Given the description of an element on the screen output the (x, y) to click on. 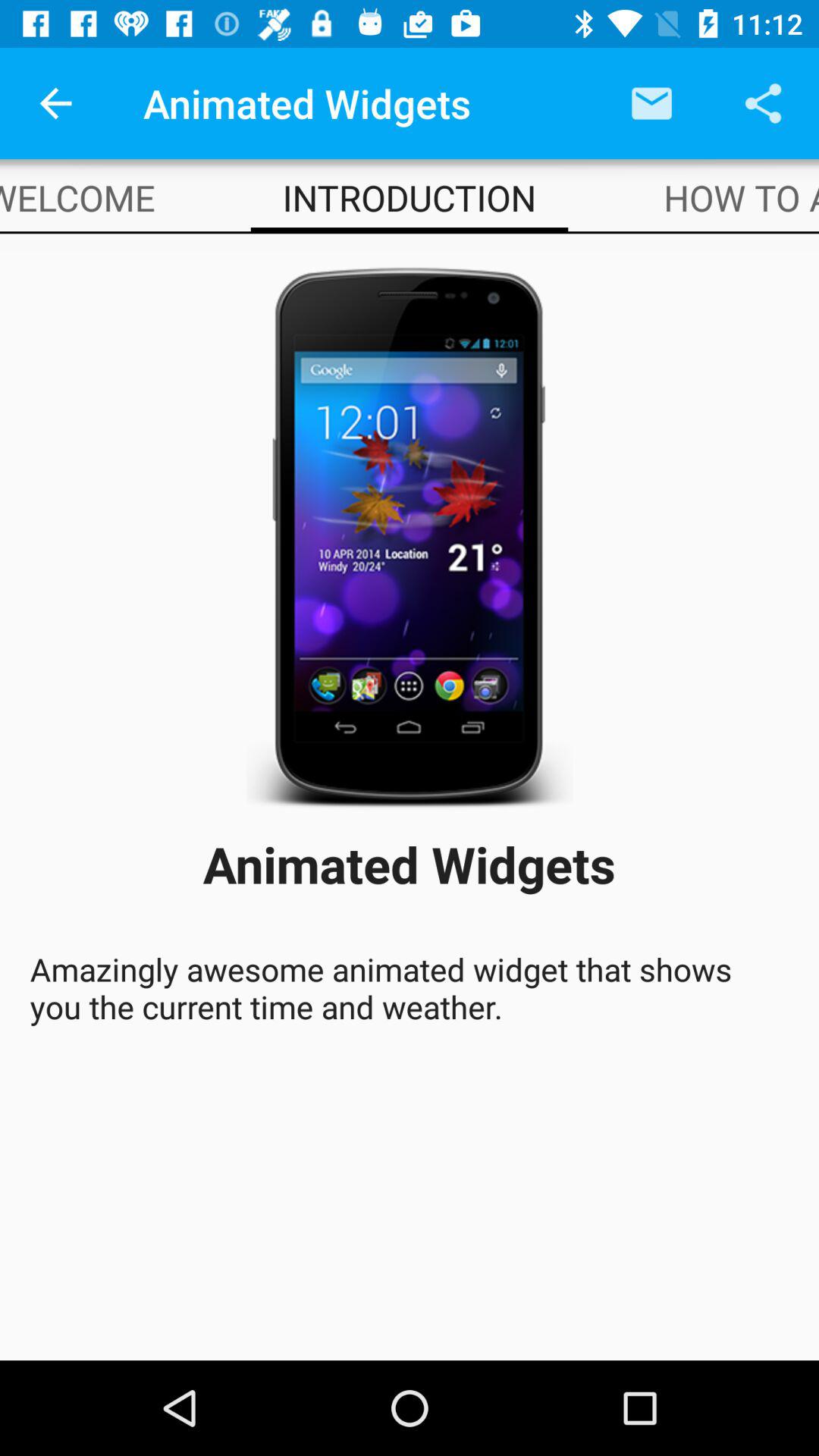
open the app above how to add item (763, 103)
